Given the description of an element on the screen output the (x, y) to click on. 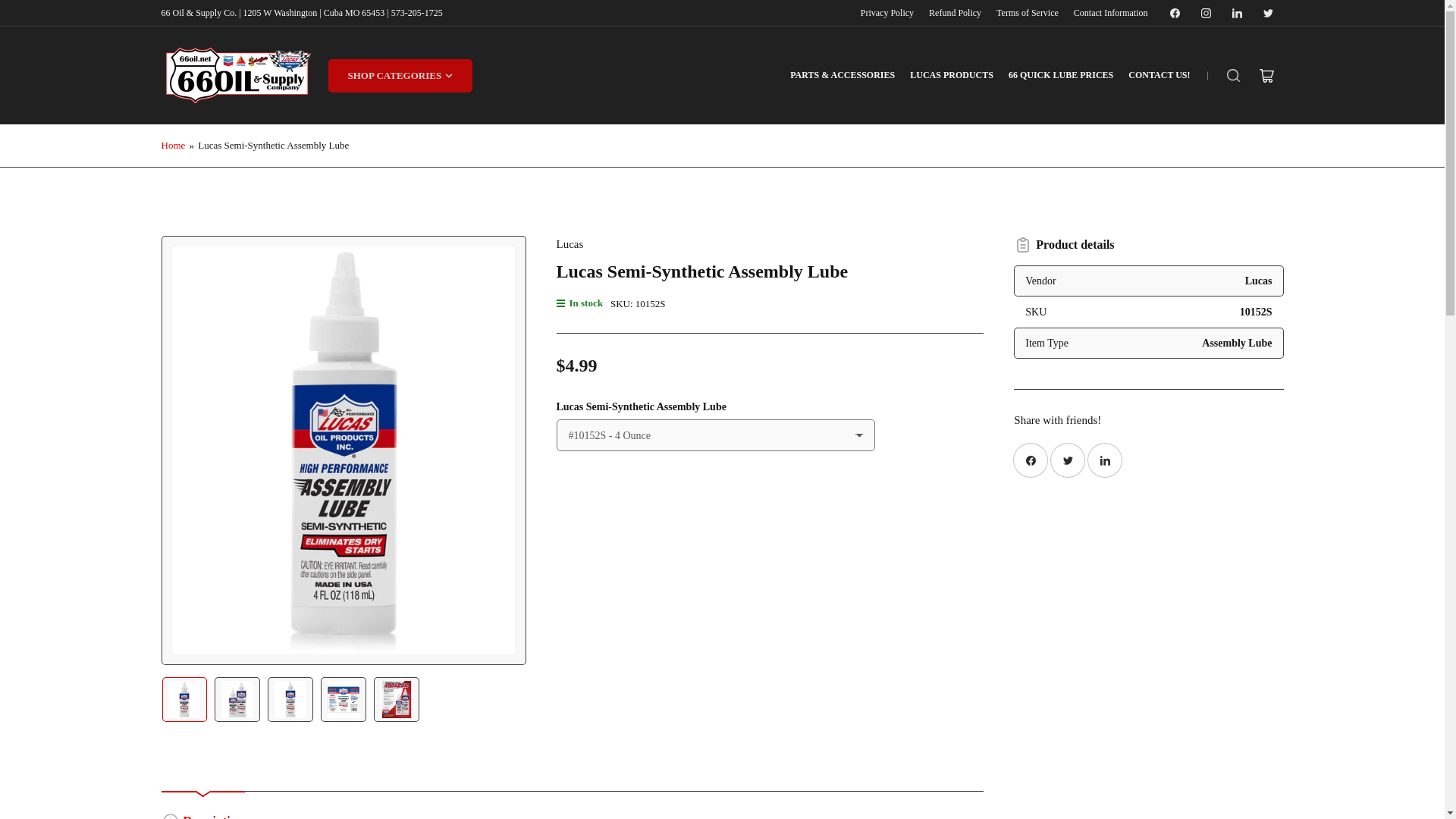
Lucas (569, 244)
Twitter (1267, 14)
Facebook (1174, 14)
SHOP CATEGORIES (399, 75)
LinkedIn (1236, 14)
Contact Information (1111, 12)
Instagram (1206, 14)
Refund Policy (954, 12)
Privacy Policy (887, 12)
Terms of Service (1026, 12)
